Given the description of an element on the screen output the (x, y) to click on. 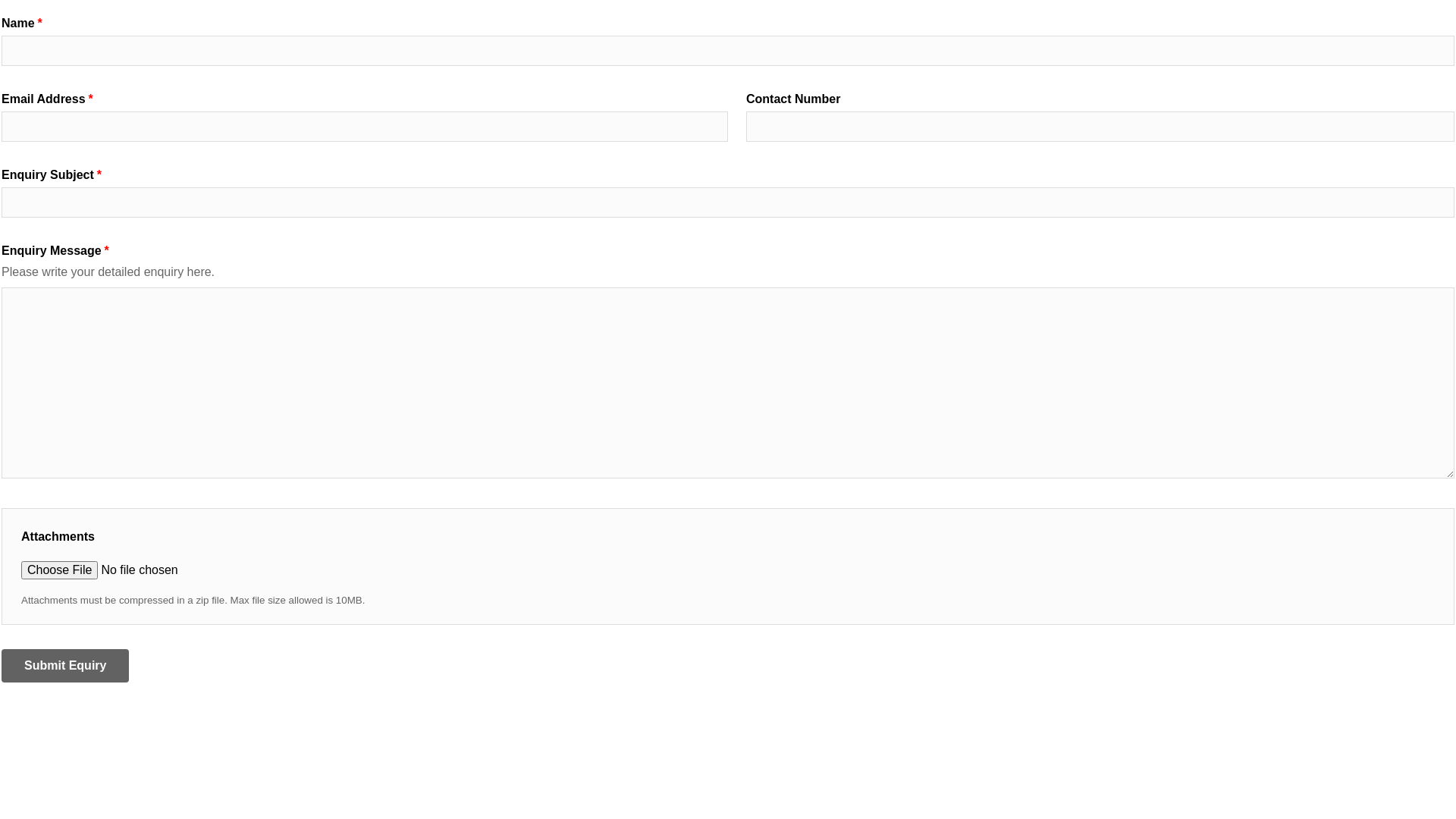
Submit Equiry Element type: text (64, 665)
